Given the description of an element on the screen output the (x, y) to click on. 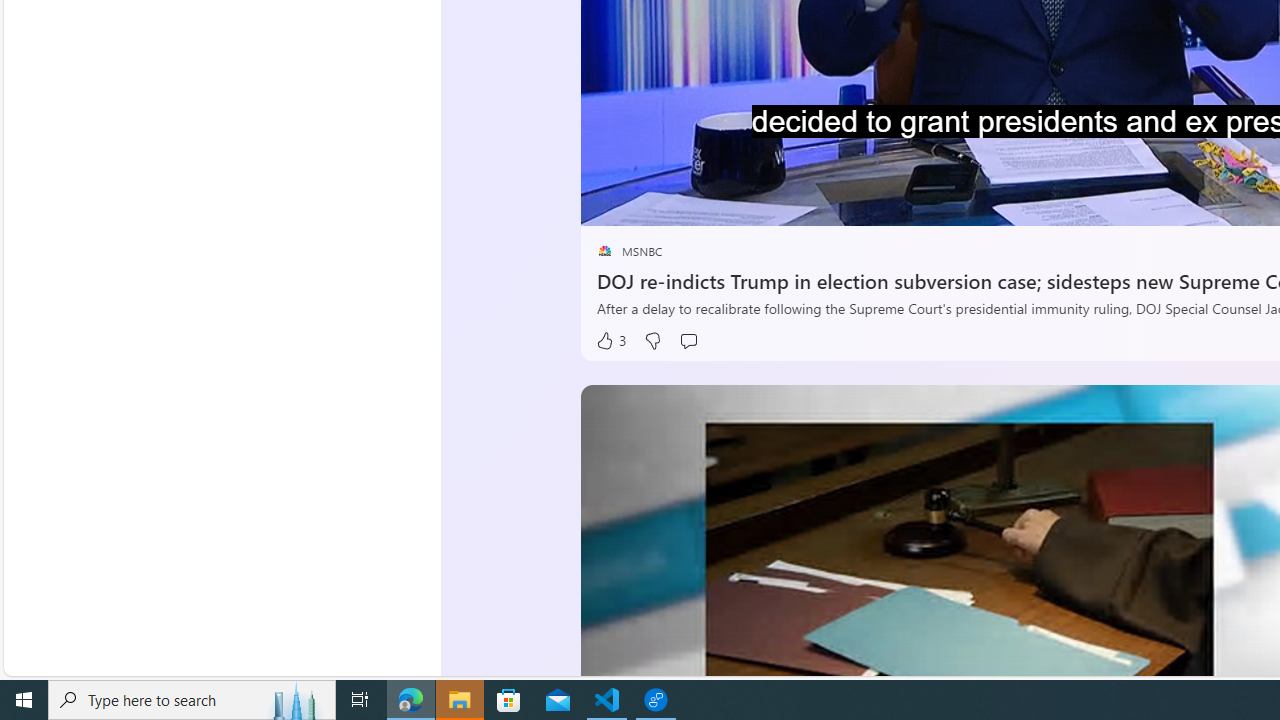
3 Like (610, 340)
Dislike (651, 340)
Seek Forward (690, 203)
placeholder (604, 251)
Pause (611, 203)
Start the conversation (687, 340)
Seek Back (650, 203)
placeholder MSNBC (629, 251)
